Given the description of an element on the screen output the (x, y) to click on. 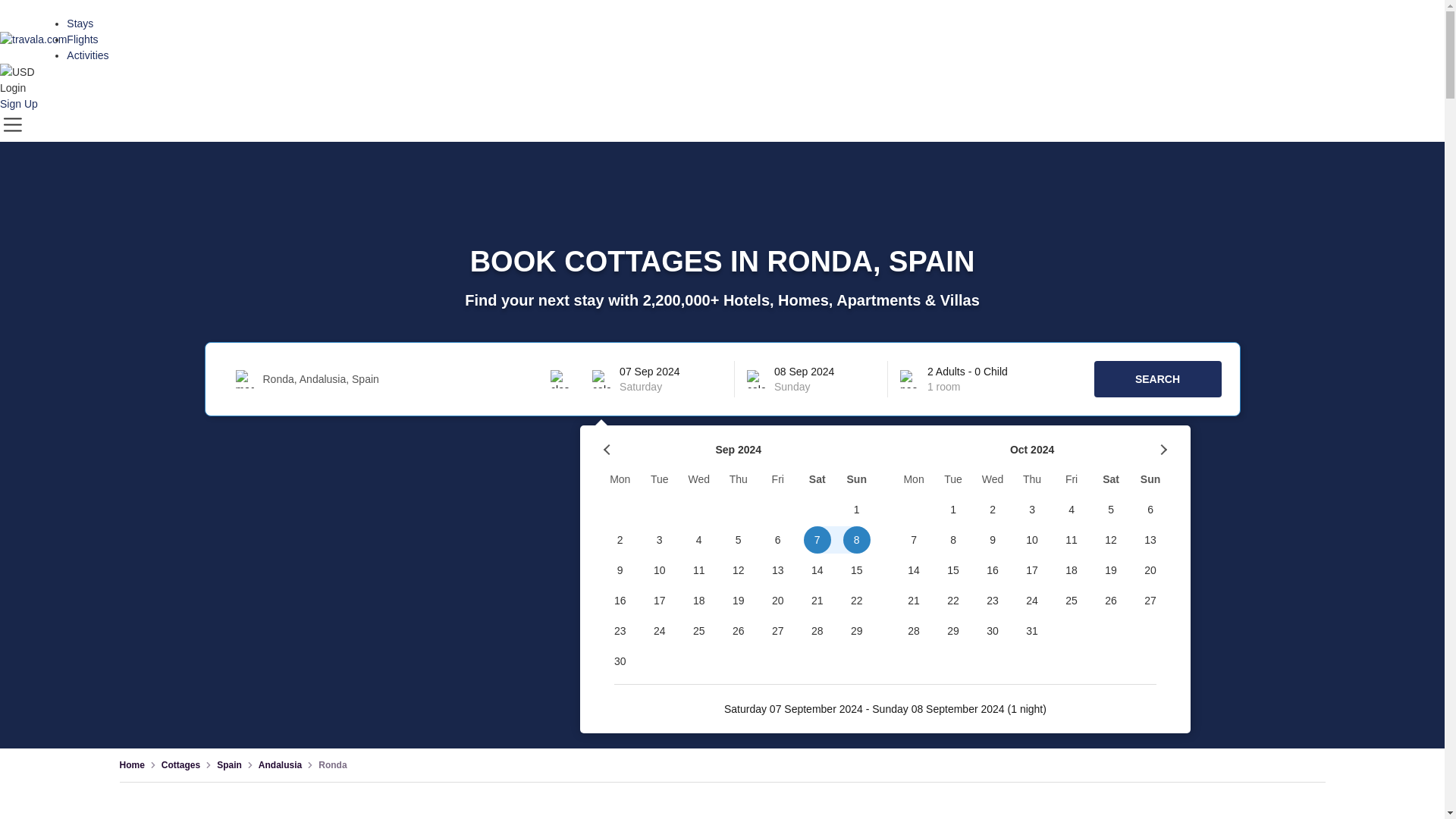
8 (856, 539)
5 (738, 539)
10 (659, 570)
23 (619, 630)
Flights (81, 39)
19 (738, 600)
Ronda, Andalusia, Spain (406, 379)
Activities (86, 55)
20 (777, 600)
22 (856, 600)
